Given the description of an element on the screen output the (x, y) to click on. 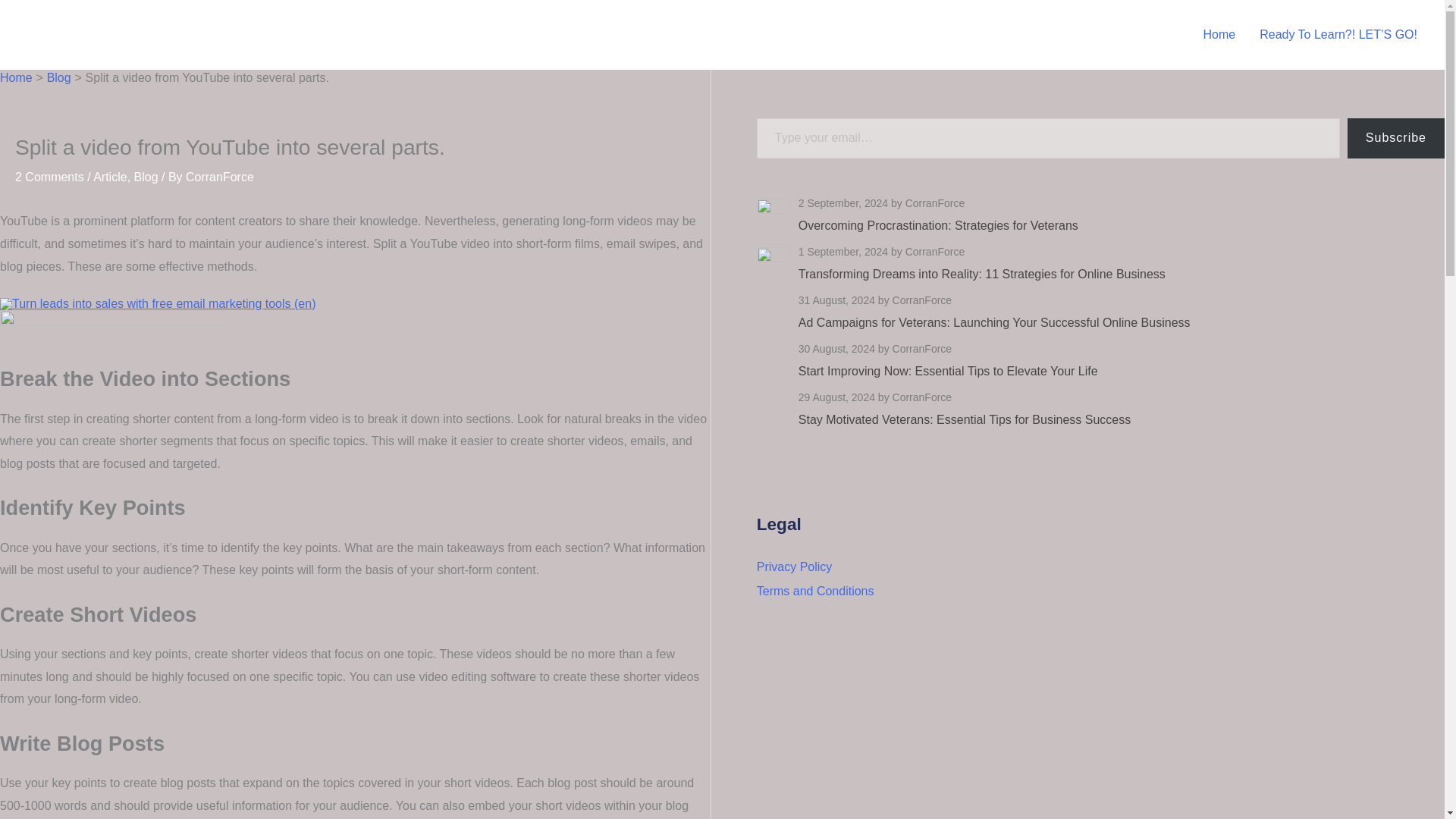
Home (16, 77)
Terms and Conditions  (816, 590)
Privacy Policy (794, 566)
2 Comments (49, 176)
Article (109, 176)
Home (1219, 34)
Blog (145, 176)
CorranForce (219, 176)
Blog (58, 77)
Please fill in this field. (1048, 137)
